Given the description of an element on the screen output the (x, y) to click on. 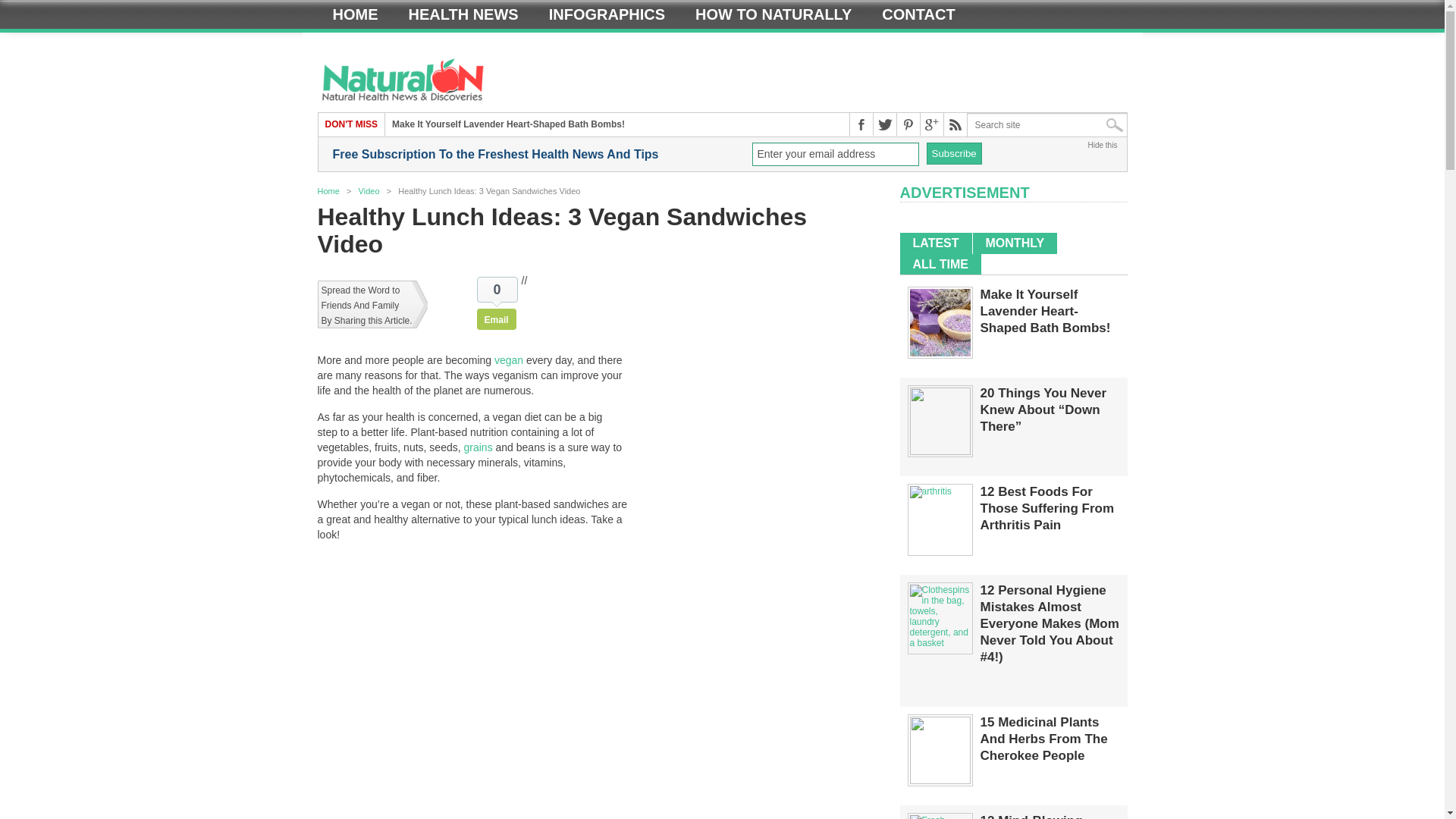
INFOGRAPHICS (606, 14)
Subscribe (953, 153)
HOW TO NATURALLY (772, 14)
HEALTH NEWS (462, 14)
Search site (1047, 124)
Home (328, 190)
0 (497, 289)
vegan (508, 359)
Email (496, 319)
Enter your email address (835, 154)
Subscribe (953, 153)
CONTACT (917, 14)
Make It Yourself Lavender Heart-Shaped Bath Bombs! (940, 353)
Make It Yourself Lavender Heart-Shaped Bath Bombs! (507, 123)
Email (496, 319)
